Given the description of an element on the screen output the (x, y) to click on. 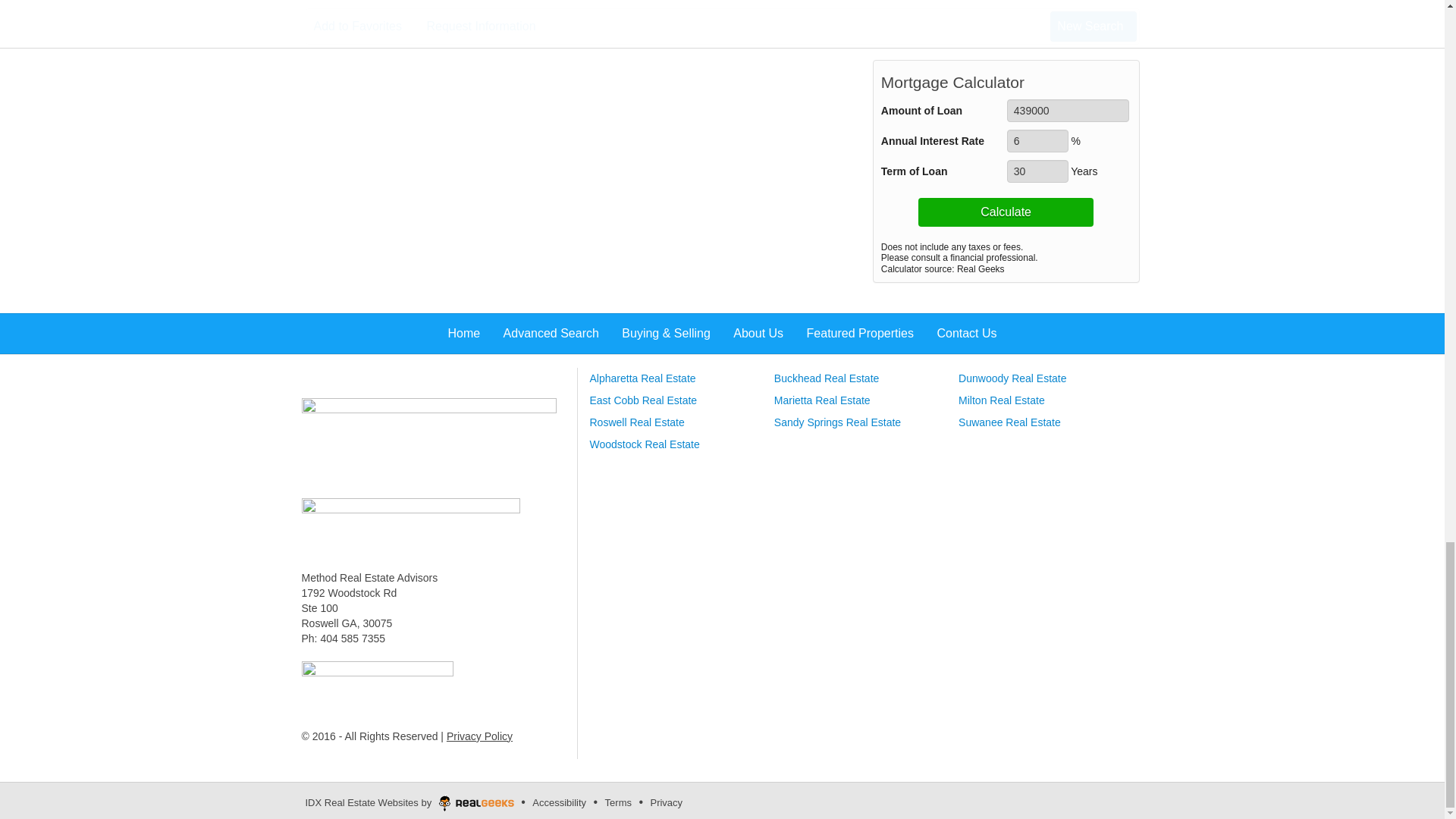
Advanced Search (428, 439)
30 (1037, 170)
6 (1037, 140)
Privacy Policy for GeorgiaAR.com (479, 736)
439000 (1068, 110)
